Given the description of an element on the screen output the (x, y) to click on. 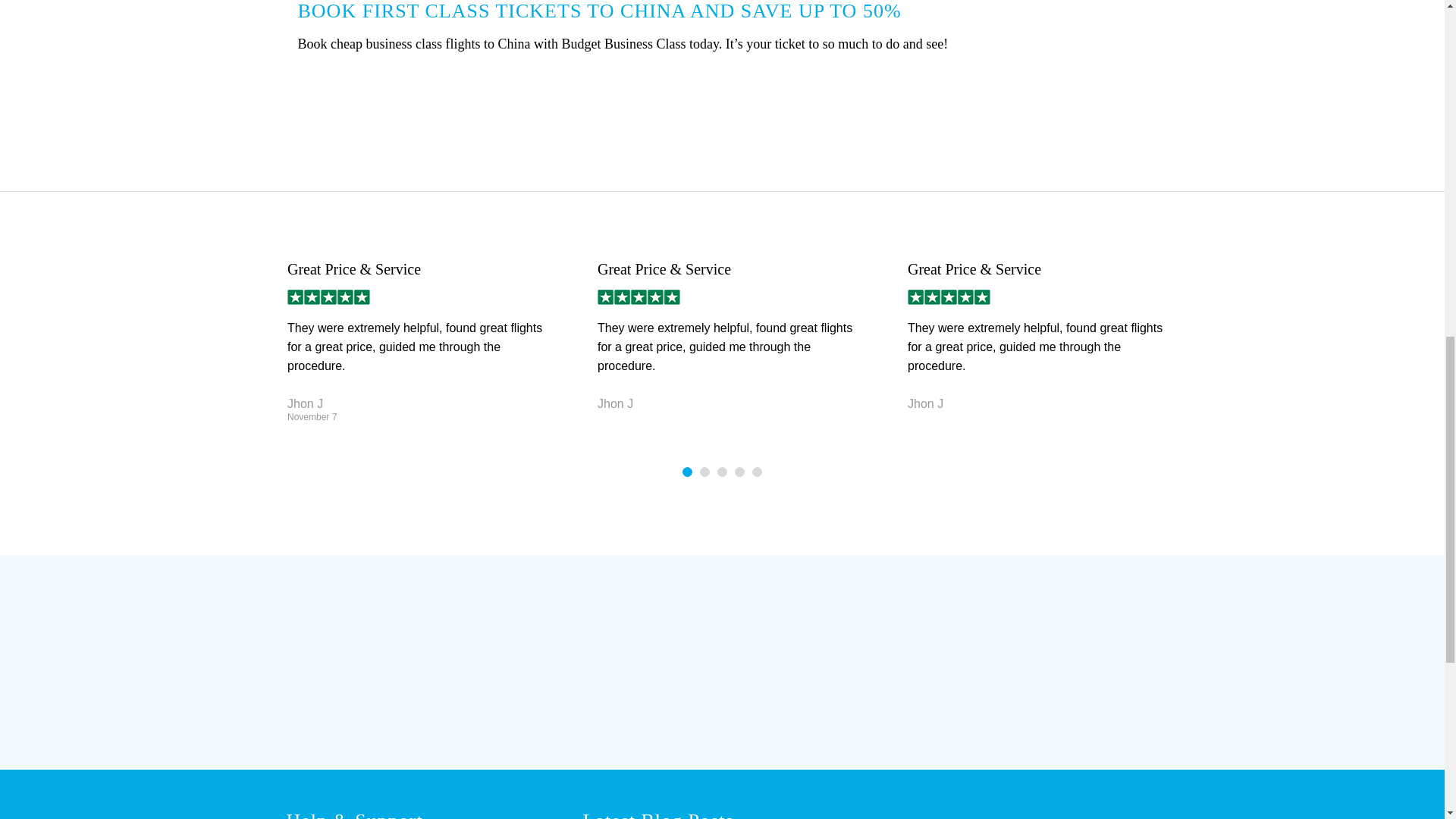
2 (705, 471)
4 (739, 471)
3 (721, 471)
5 (756, 471)
1 (687, 471)
